Given the description of an element on the screen output the (x, y) to click on. 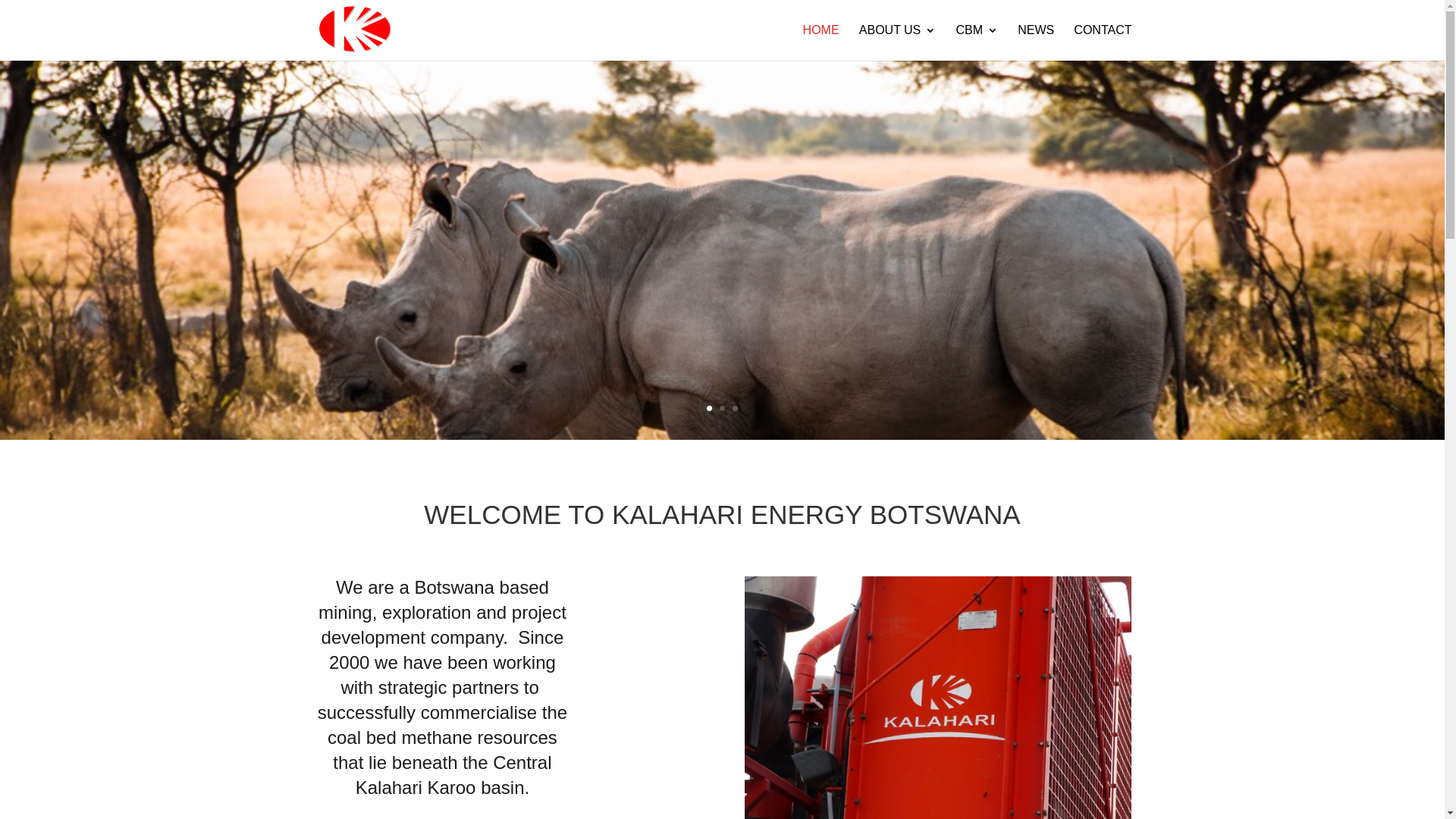
1 Element type: text (709, 407)
CBM Element type: text (976, 42)
ABOUT US Element type: text (897, 42)
CONTACT Element type: text (1102, 42)
3 Element type: text (734, 407)
HOME Element type: text (821, 42)
2 Element type: text (721, 407)
NEWS Element type: text (1035, 42)
